Given the description of an element on the screen output the (x, y) to click on. 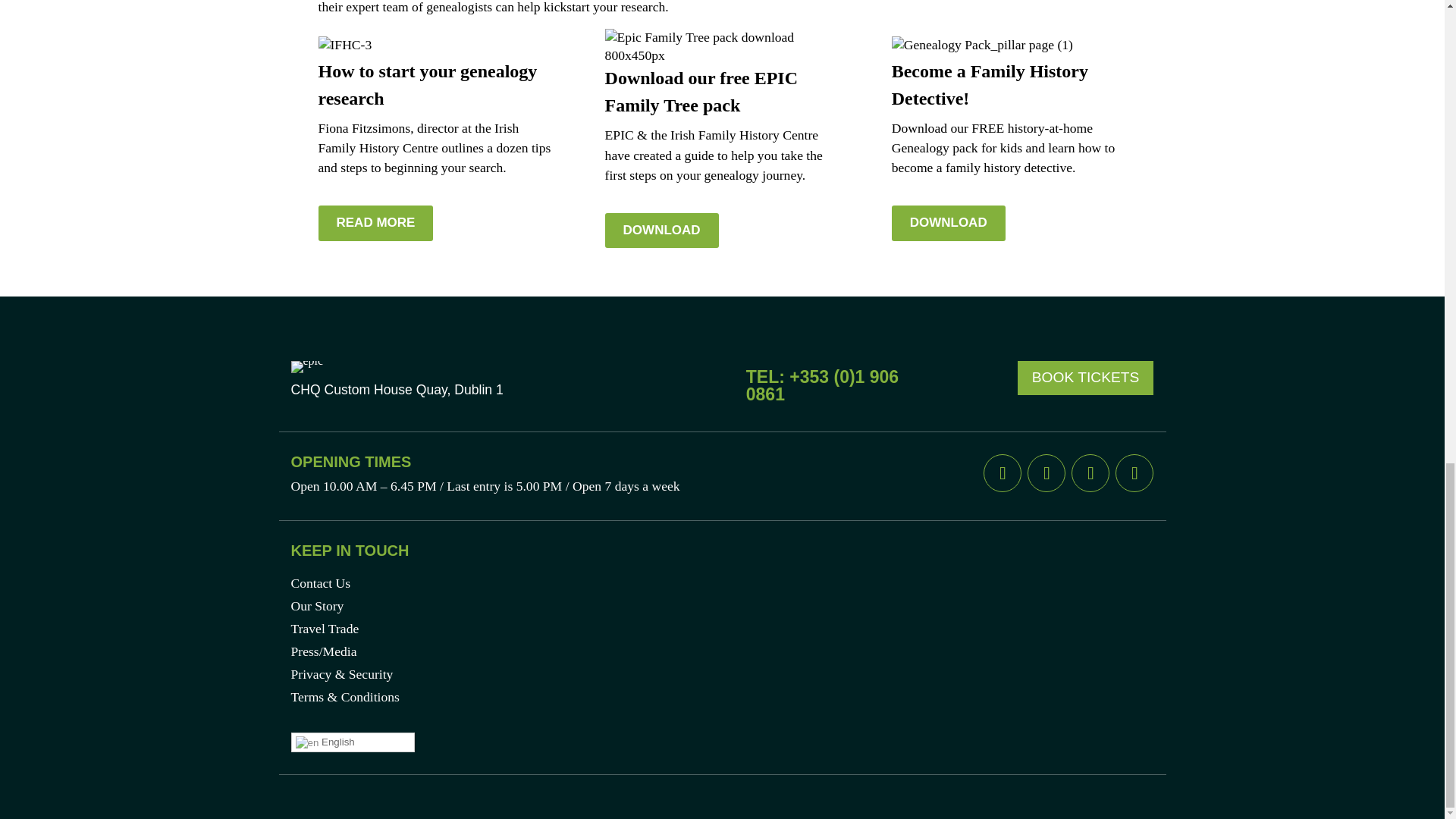
Epic Family Tree pack download 800x450px (722, 46)
Follow on Facebook (1003, 473)
Follow on Instagram (1090, 473)
Follow on Twitter (1046, 473)
epic (307, 367)
Follow on Youtube (1134, 473)
IFHC-3 (345, 45)
